Given the description of an element on the screen output the (x, y) to click on. 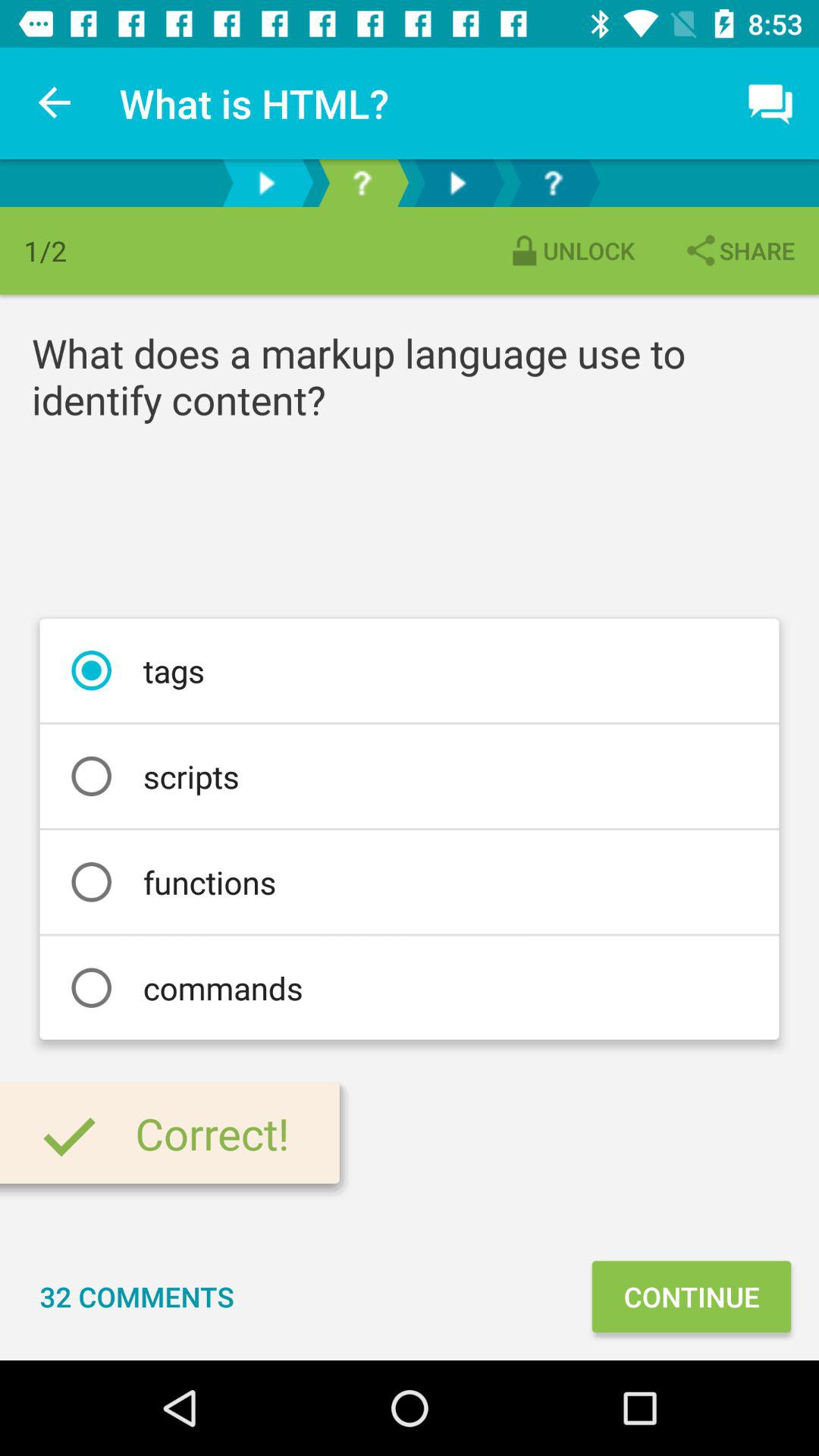
select the icon to the left of what is html? icon (55, 103)
